Given the description of an element on the screen output the (x, y) to click on. 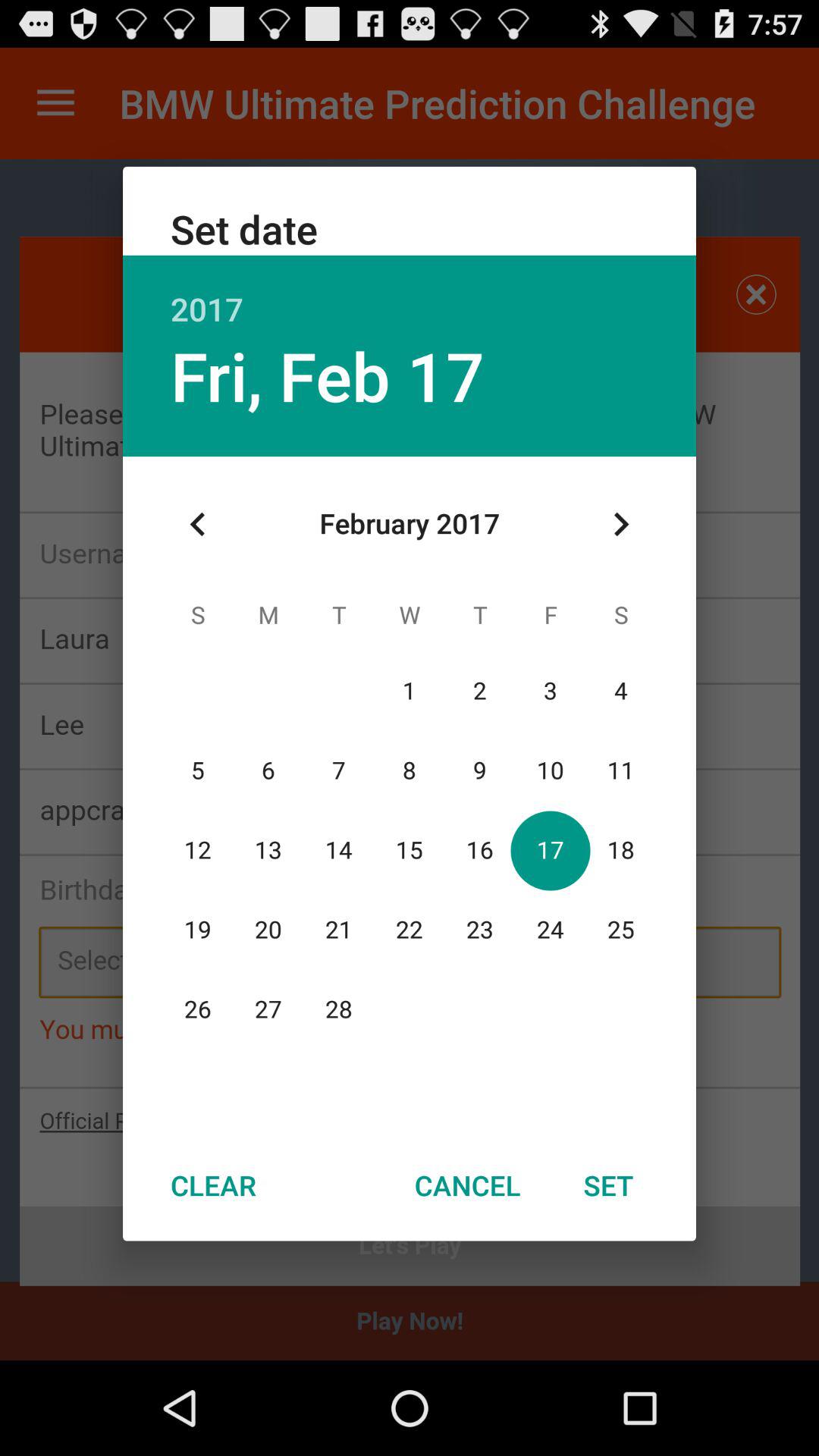
turn on icon below the 2017 item (327, 375)
